Given the description of an element on the screen output the (x, y) to click on. 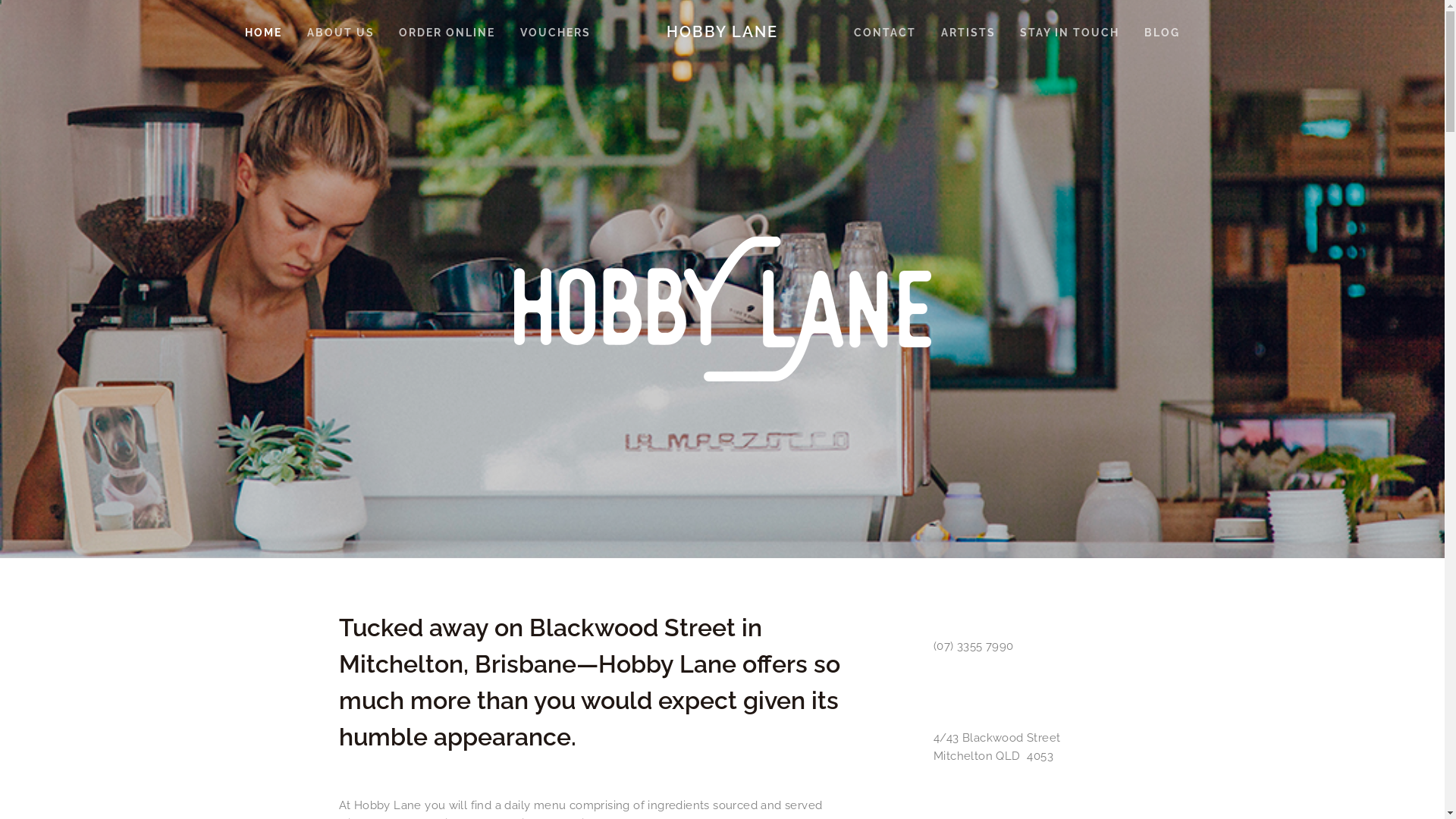
ABOUT US Element type: text (340, 31)
HOBBY LANE Element type: text (722, 31)
VOUCHERS Element type: text (555, 31)
ORDER ONLINE Element type: text (446, 31)
ARTISTS Element type: text (968, 31)
STAY IN TOUCH Element type: text (1069, 31)
BLOG Element type: text (1161, 31)
CONTACT Element type: text (884, 31)
HOME Element type: text (263, 31)
